Given the description of an element on the screen output the (x, y) to click on. 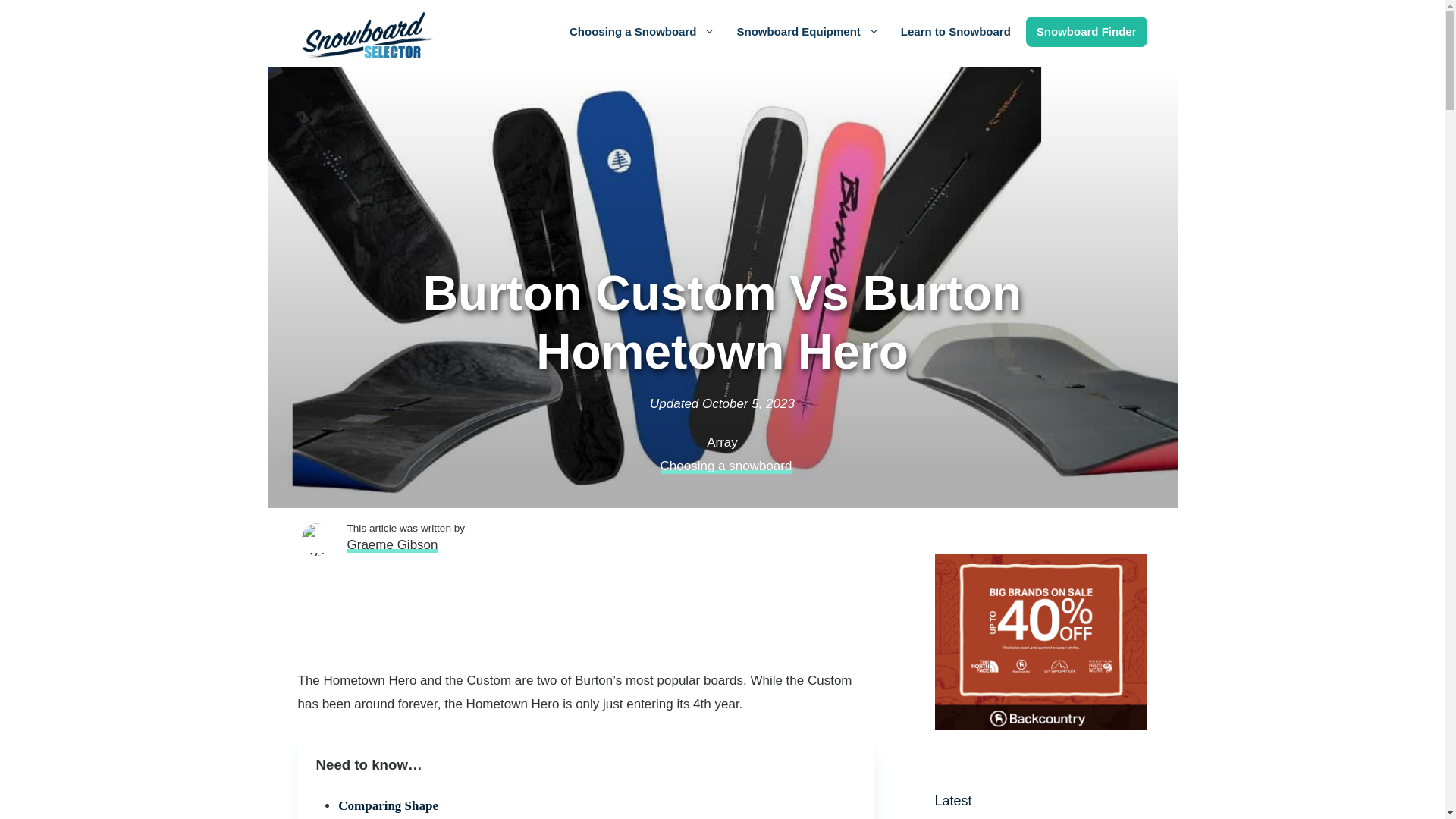
Snowboard Finder (1086, 31)
Choosing a Snowboard (642, 31)
Learn to Snowboard (955, 31)
Snowboard Equipment (807, 31)
